Given the description of an element on the screen output the (x, y) to click on. 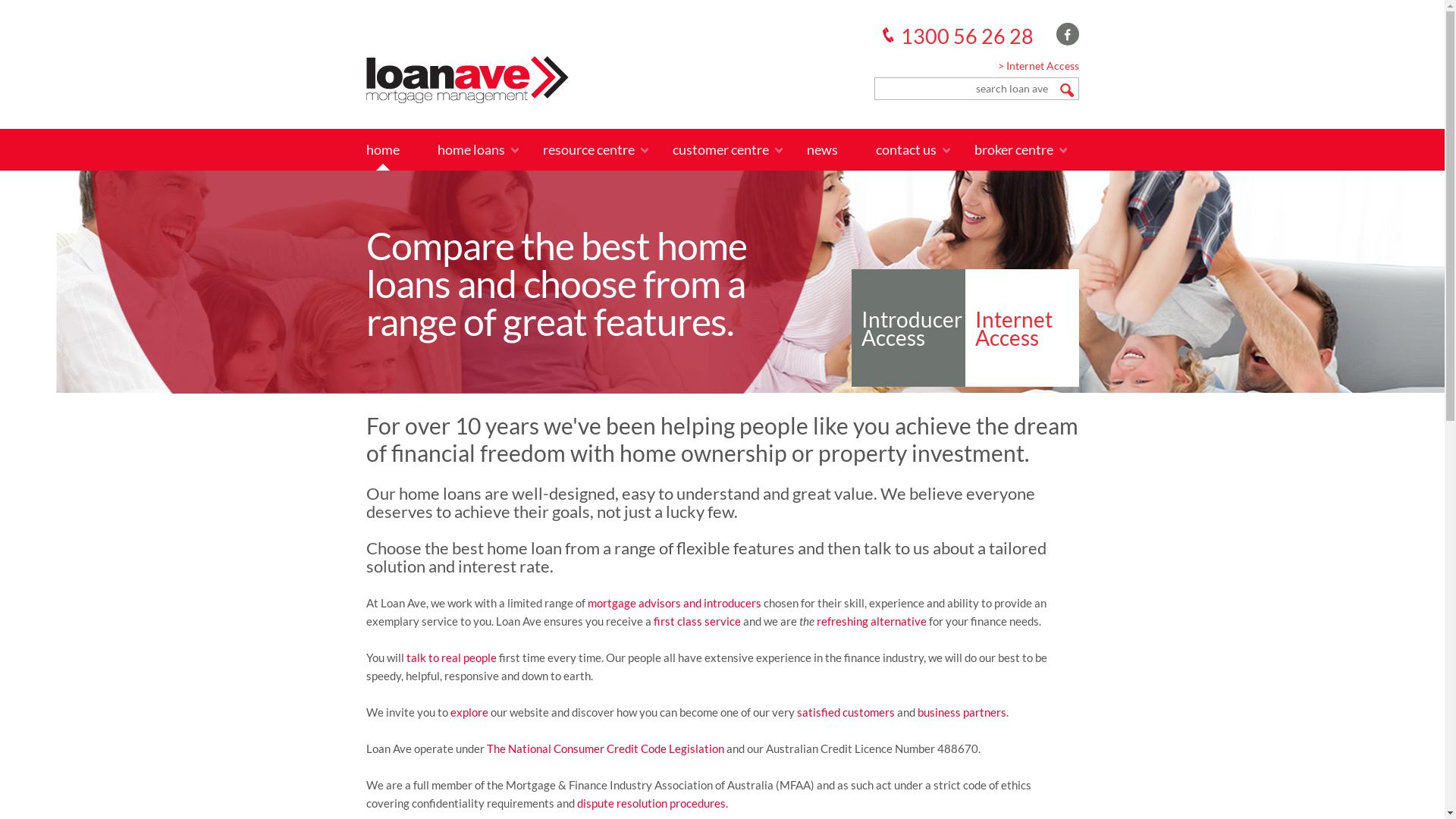
Loan Avenue Element type: text (466, 79)
Subscribe Element type: text (364, 9)
first class service Element type: text (696, 620)
dispute resolution procedures. Element type: text (651, 802)
> Internet Access Element type: text (1038, 65)
talk to real people Element type: text (451, 657)
home Element type: text (381, 149)
satisfied customers Element type: text (845, 711)
explore Element type: text (469, 711)
refreshing alternative Element type: text (870, 620)
business partners Element type: text (961, 711)
news Element type: text (821, 149)
The National Consumer Credit Code Legislation Element type: text (605, 748)
Internet Access Element type: text (1021, 327)
Introducer Access Element type: text (907, 327)
mortgage advisors and introducers Element type: text (673, 602)
